Given the description of an element on the screen output the (x, y) to click on. 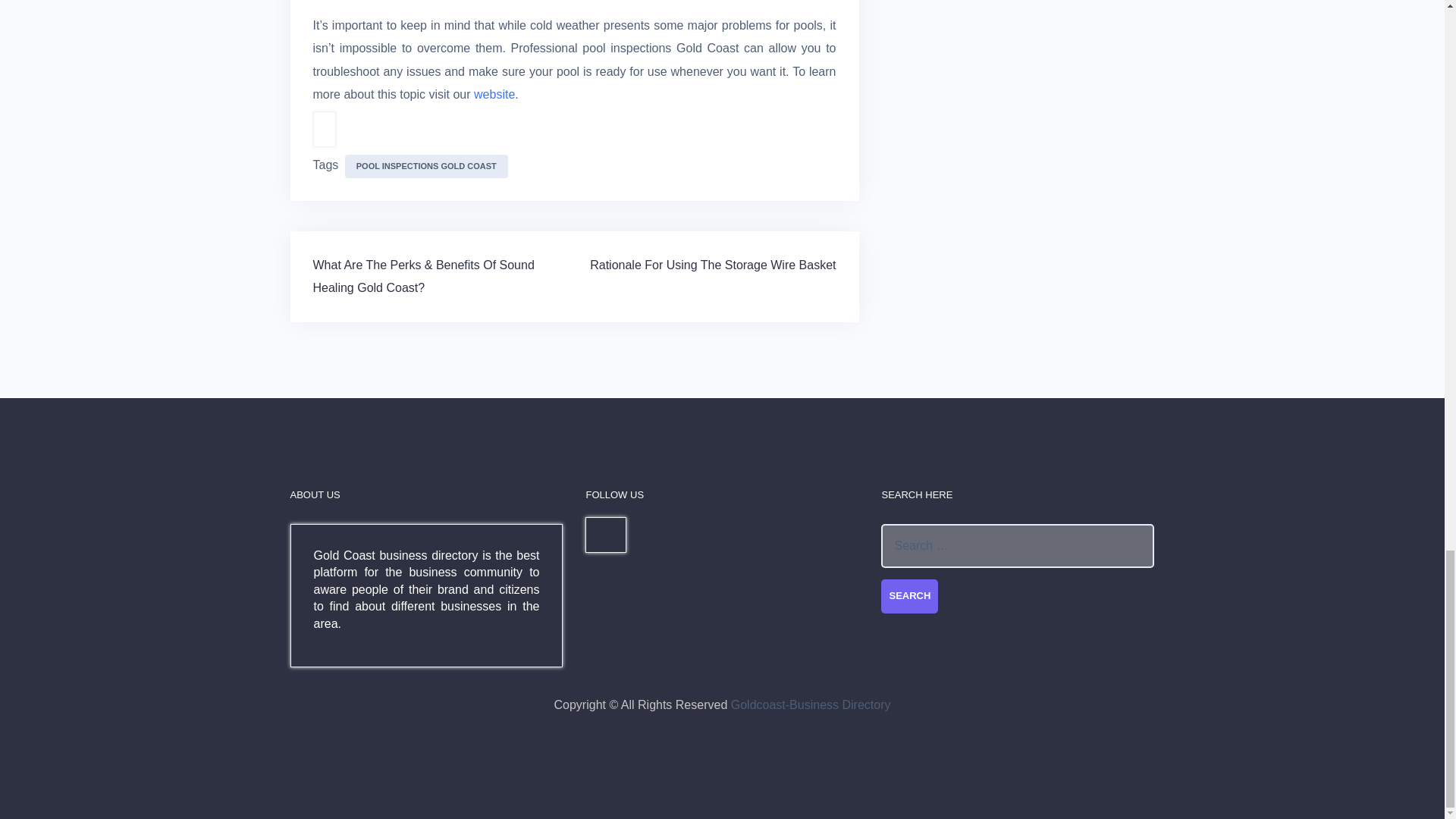
Search (908, 596)
Search (908, 596)
POOL INSPECTIONS GOLD COAST (426, 166)
website (494, 93)
Rationale For Using The Storage Wire Basket (712, 264)
Search (908, 596)
